Given the description of an element on the screen output the (x, y) to click on. 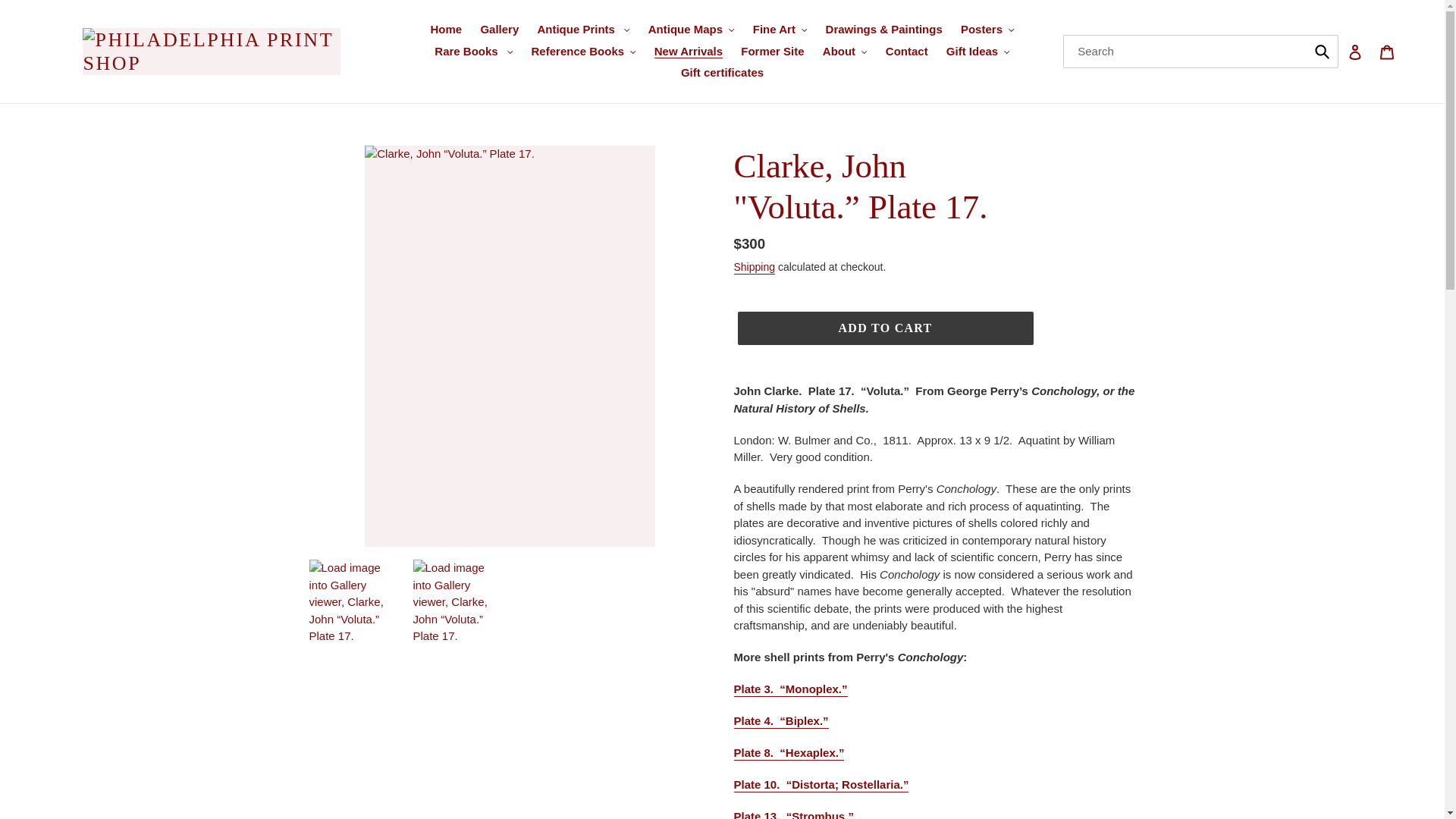
Antique Prints (583, 29)
Gallery (498, 29)
Home (446, 29)
